Given the description of an element on the screen output the (x, y) to click on. 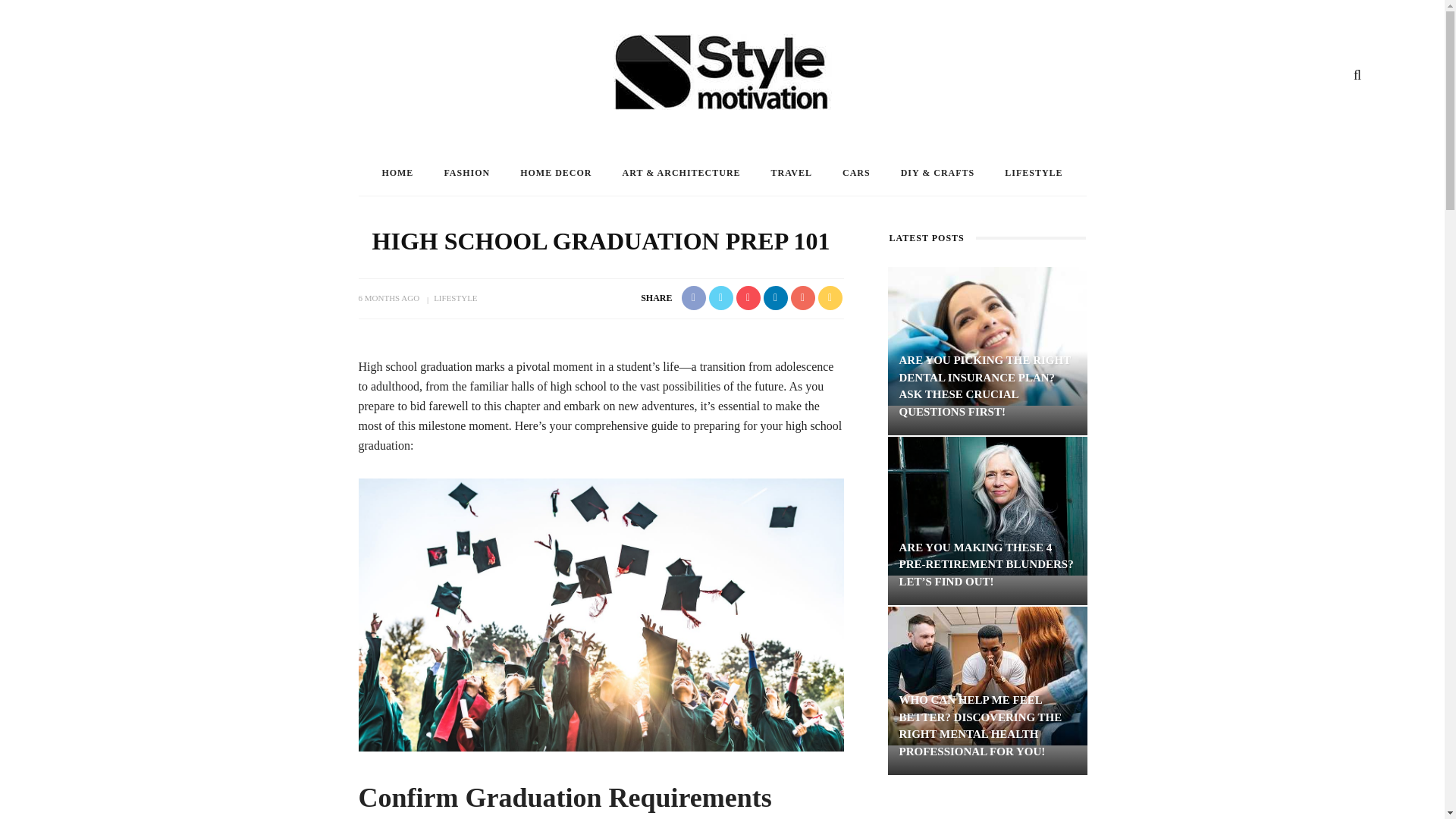
HOME (397, 172)
TRAVEL (791, 172)
LIFESTYLE (455, 297)
FASHION (466, 172)
High School Graduation Prep 101 (600, 614)
CARS (856, 172)
LIFESTYLE (1033, 172)
HOME DECOR (556, 172)
